Given the description of an element on the screen output the (x, y) to click on. 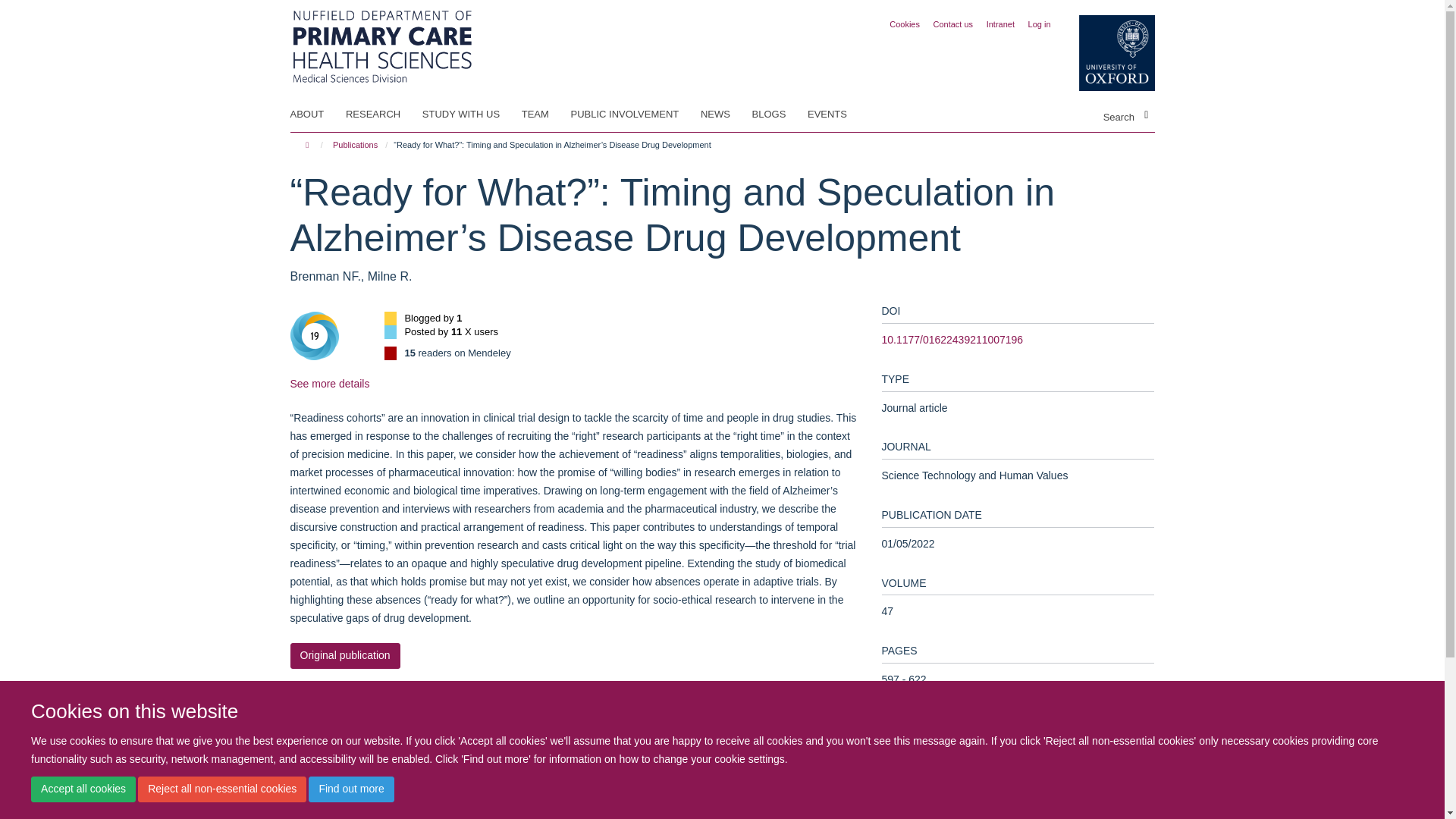
Contact us (953, 23)
Accept all cookies (82, 789)
Reject all non-essential cookies (221, 789)
Find out more (350, 789)
Log in (1039, 23)
Cookies (904, 23)
Intranet (1000, 23)
